Given the description of an element on the screen output the (x, y) to click on. 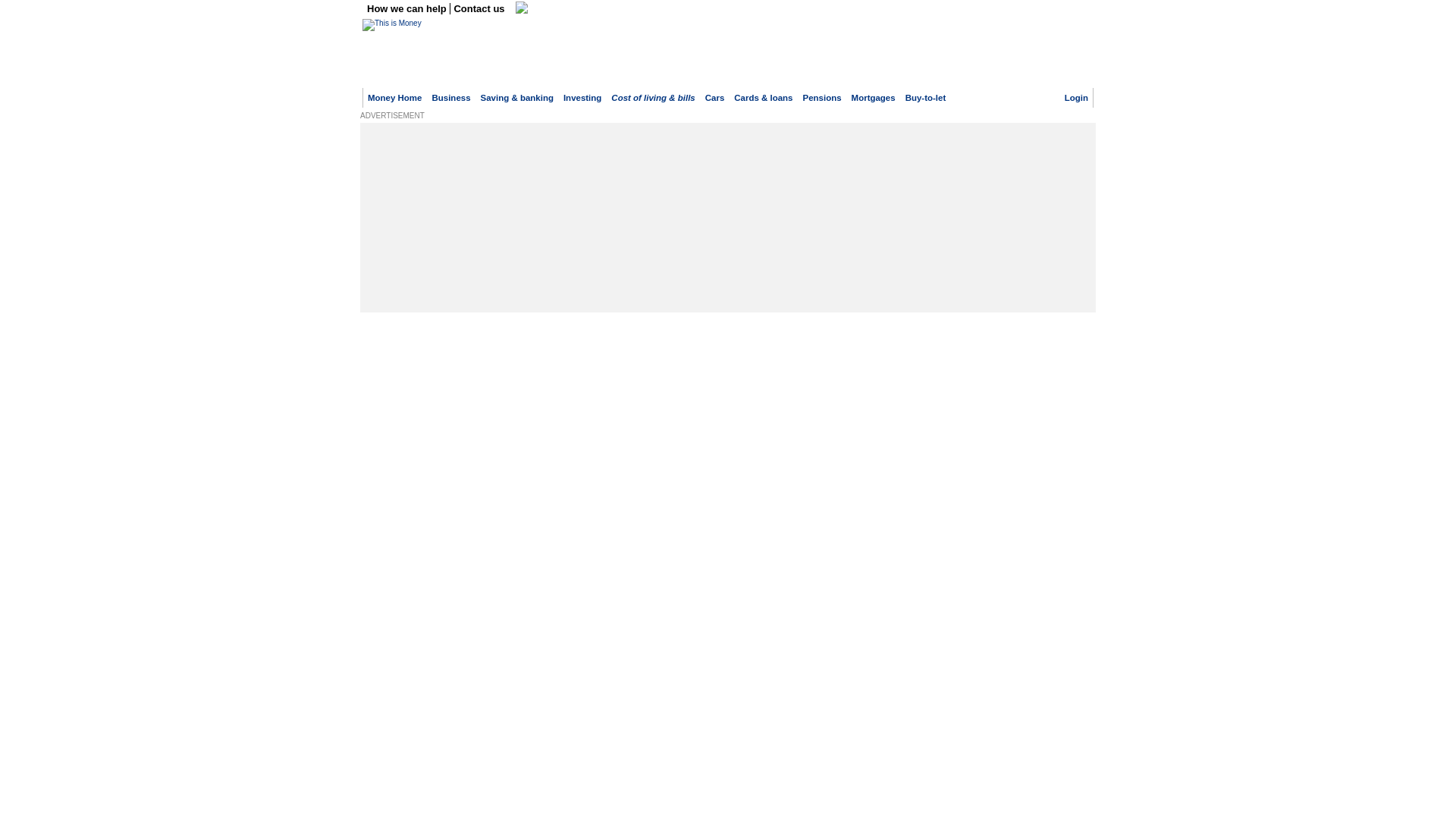
Pensions (822, 97)
Business (450, 97)
Cars (714, 97)
How we can help (407, 8)
Login (1075, 97)
Investing (582, 97)
Buy-to-let (925, 97)
Money Home (395, 97)
Contact us (479, 8)
Mortgages (873, 97)
